Given the description of an element on the screen output the (x, y) to click on. 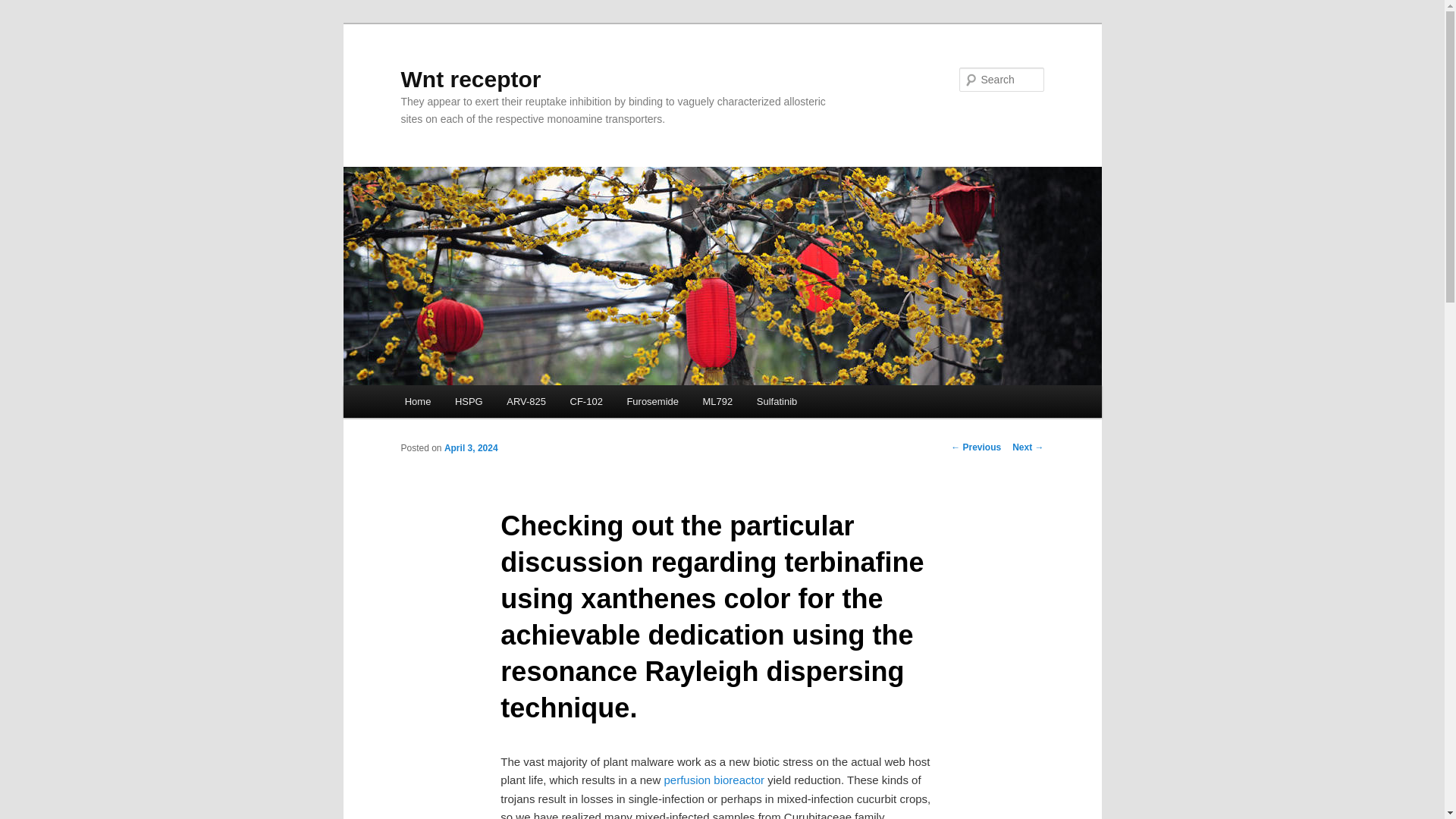
Wnt receptor (470, 78)
Sulfatinib (776, 400)
April 3, 2024 (470, 448)
perfusion bioreactor (713, 779)
Skip to secondary content (479, 403)
Skip to primary content (472, 403)
Home (417, 400)
Skip to secondary content (479, 403)
Skip to primary content (472, 403)
Furosemide (652, 400)
